Given the description of an element on the screen output the (x, y) to click on. 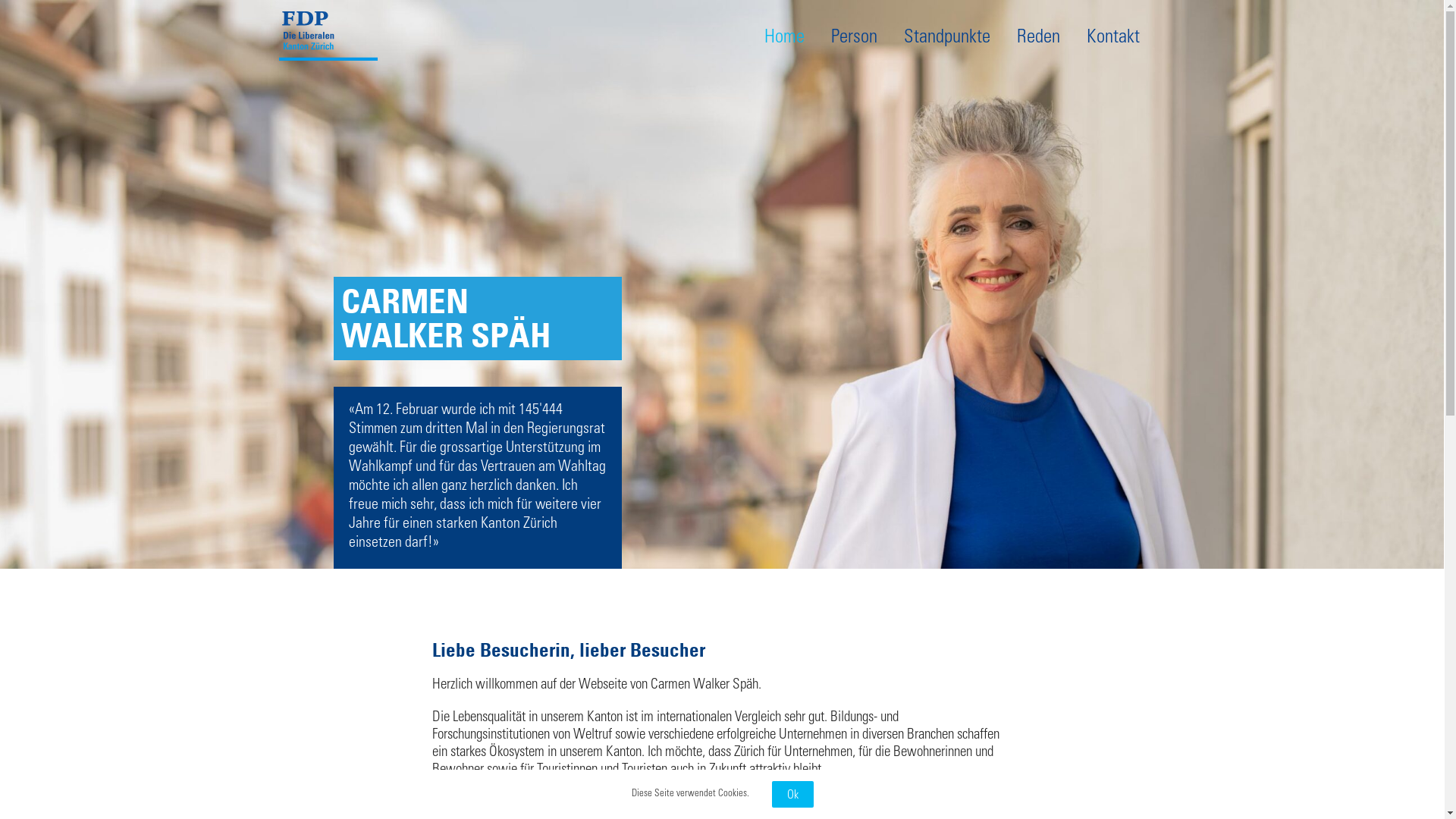
Person Element type: text (854, 37)
Kontakt Element type: text (1112, 37)
Standpunkte Element type: text (946, 37)
Reden Element type: text (1037, 37)
Home Element type: text (784, 37)
Ok Element type: text (792, 794)
